Given the description of an element on the screen output the (x, y) to click on. 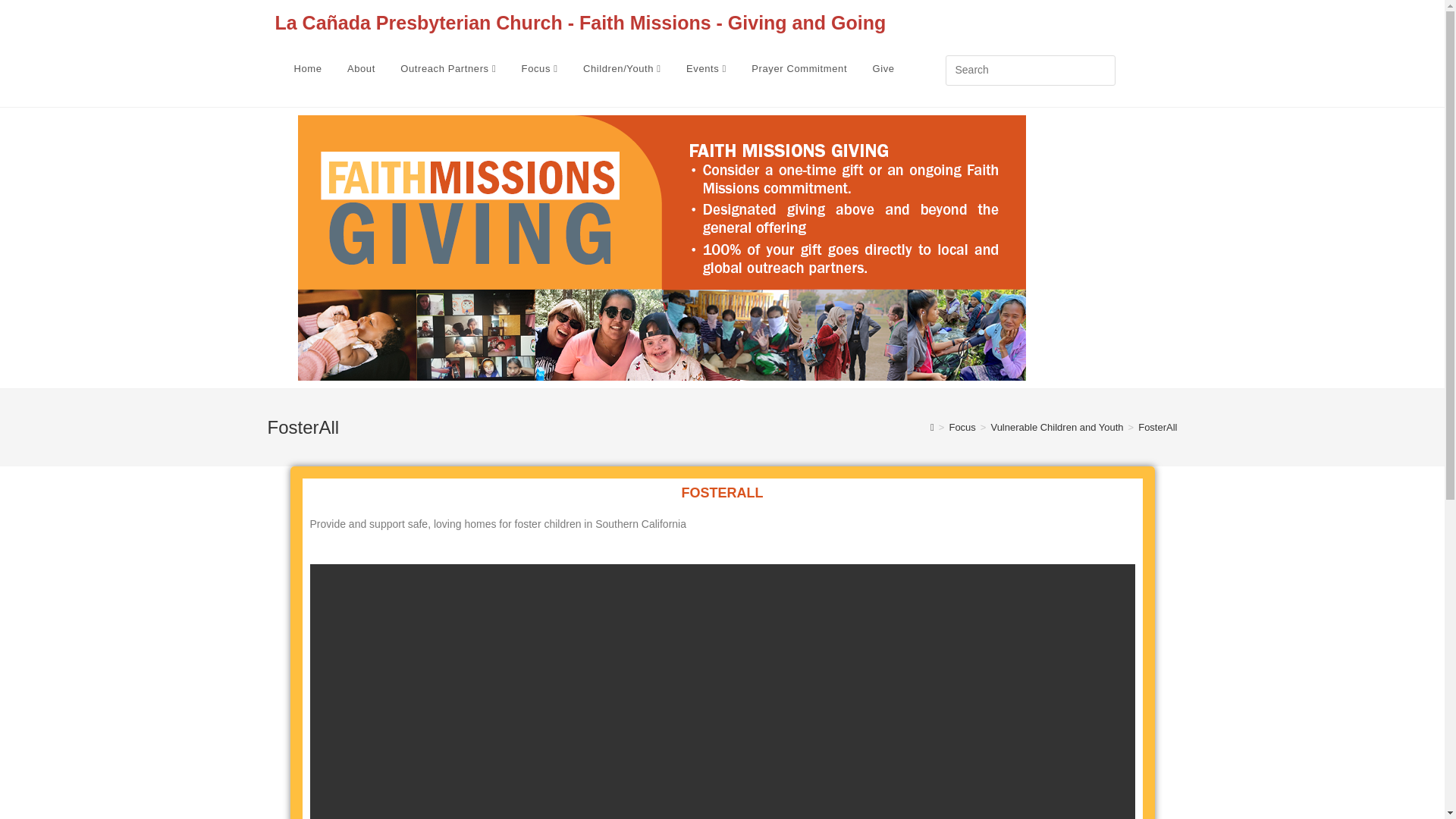
Focus (540, 68)
Outreach Partners (447, 68)
Home (307, 68)
About (361, 68)
